Given the description of an element on the screen output the (x, y) to click on. 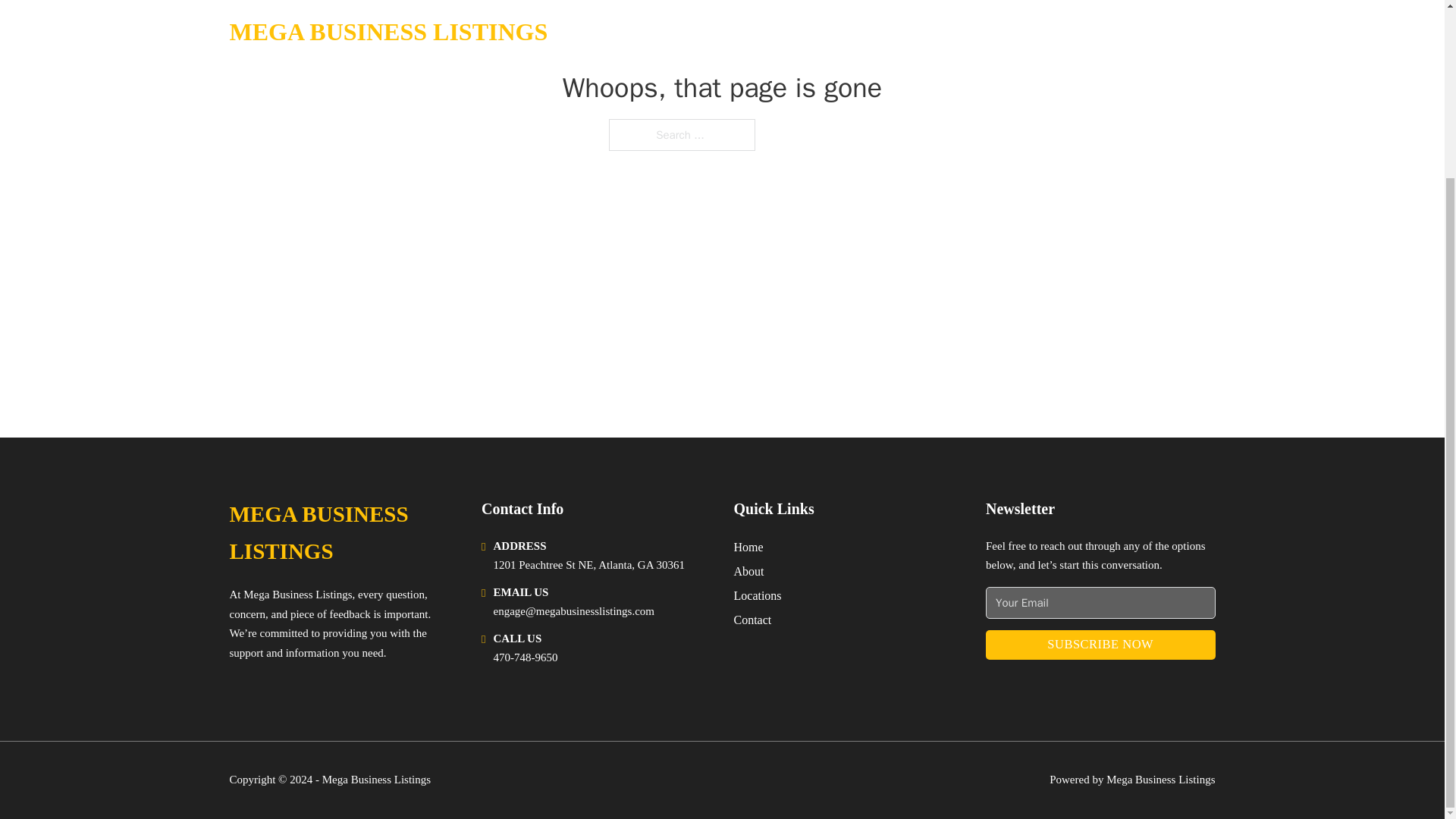
MEGA BUSINESS LISTINGS (343, 533)
Home (747, 547)
470-748-9650 (525, 657)
Locations (757, 595)
Contact (752, 619)
SUBSCRIBE NOW (1100, 644)
About (748, 571)
